Given the description of an element on the screen output the (x, y) to click on. 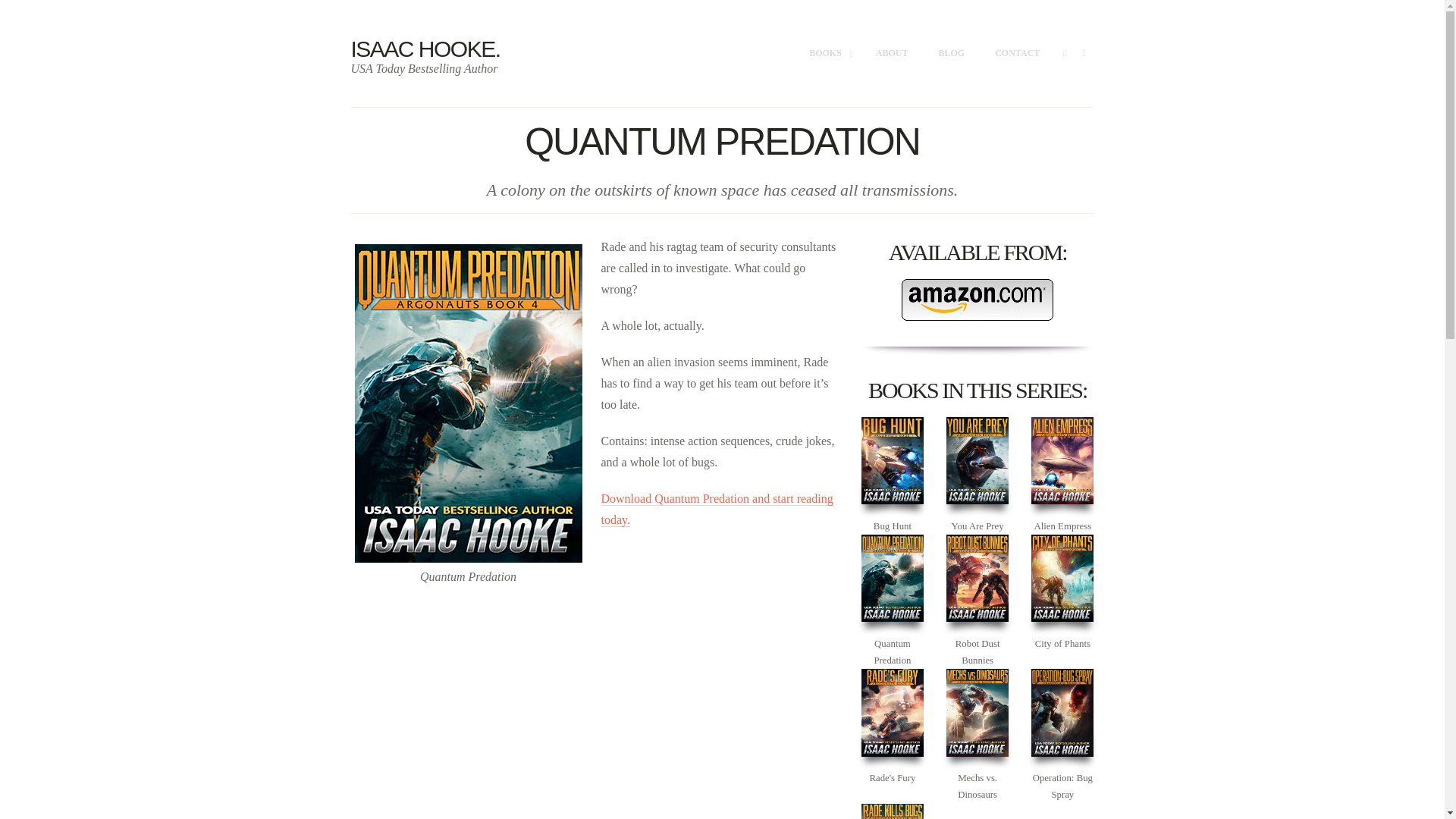
ISAAC HOOKE. (424, 49)
BOOKS (826, 53)
